Given the description of an element on the screen output the (x, y) to click on. 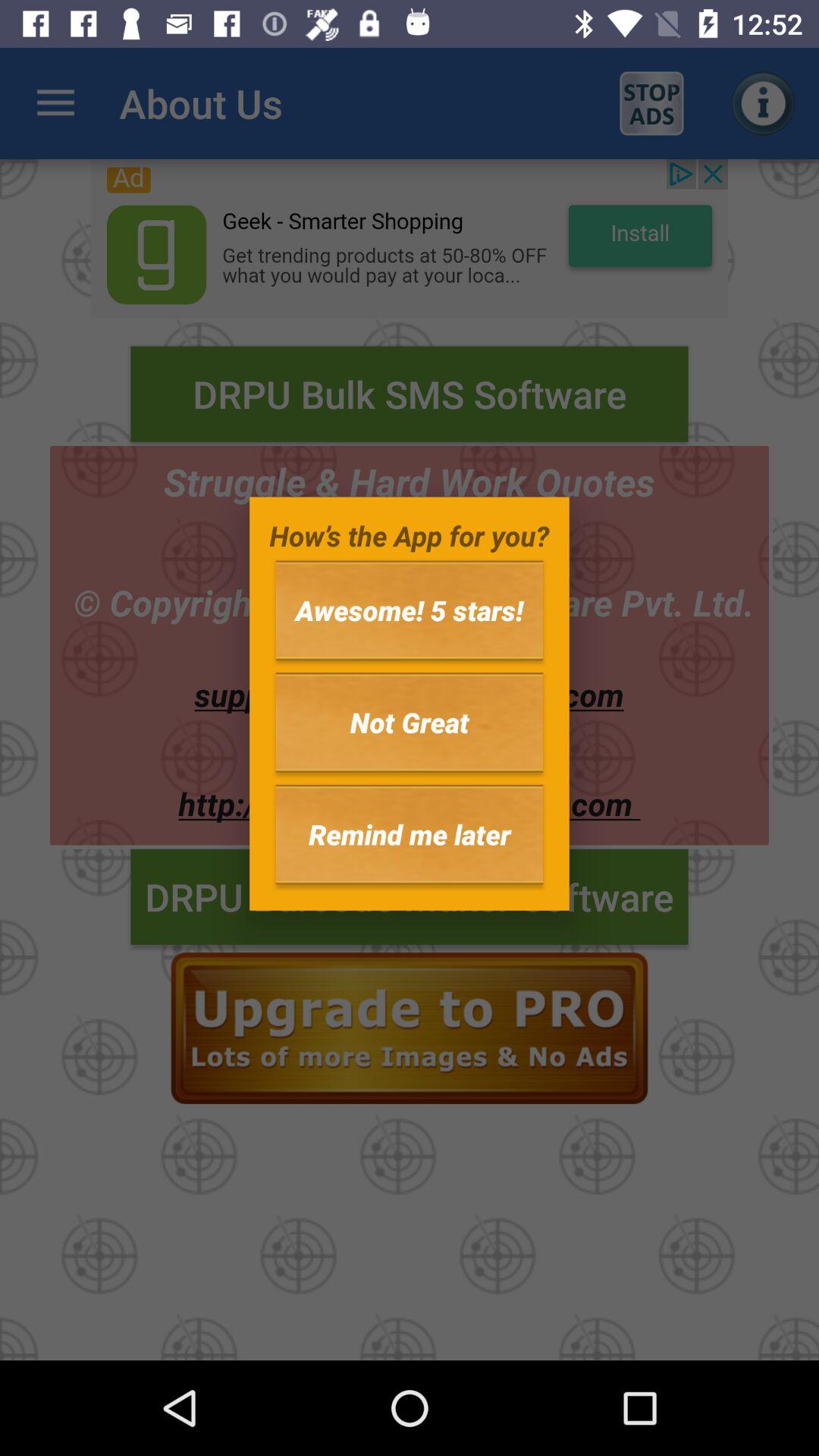
choose remind me later icon (409, 834)
